Given the description of an element on the screen output the (x, y) to click on. 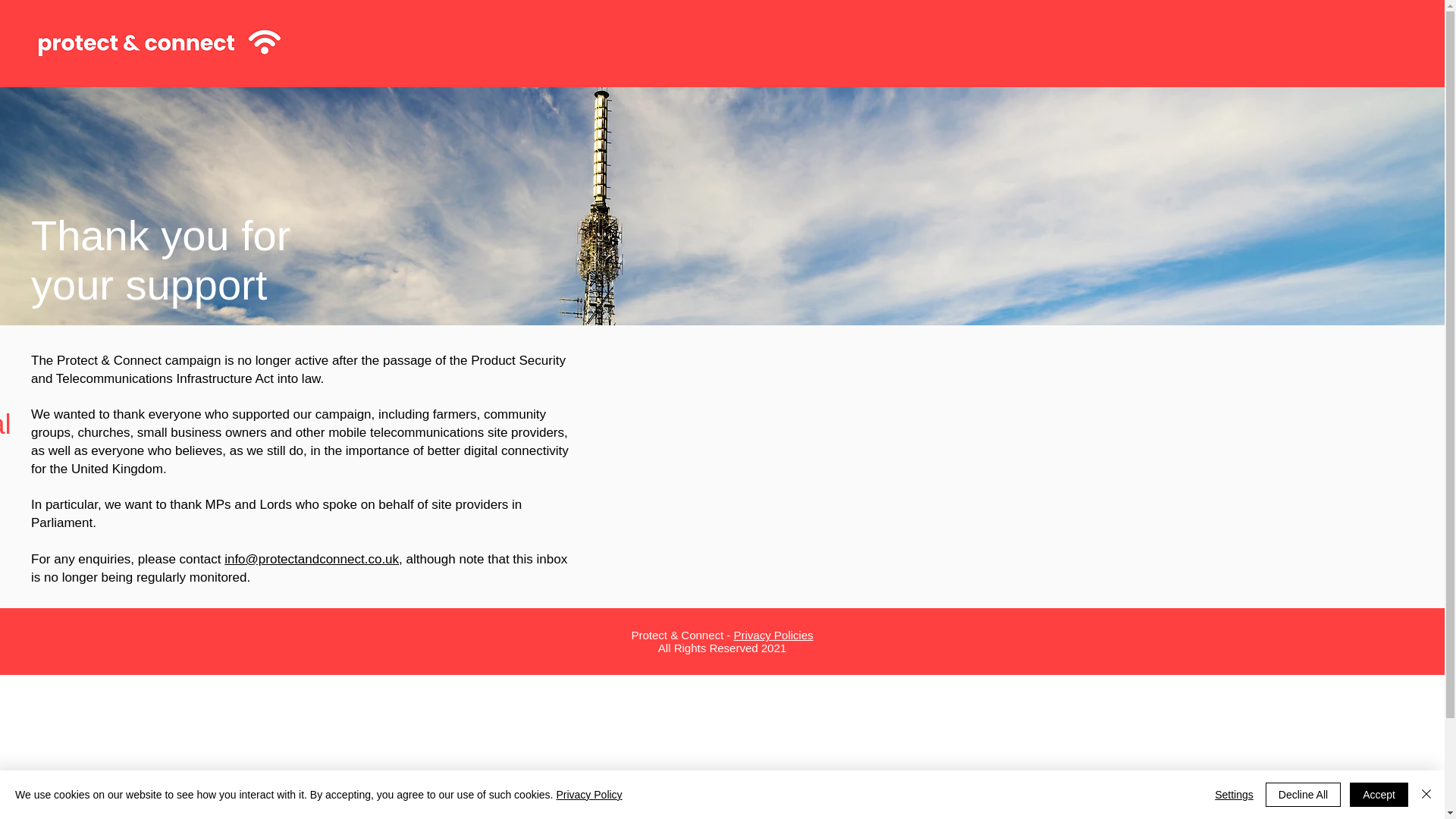
Privacy Policy (588, 794)
Privacy Policies (773, 634)
Accept (1378, 794)
Decline All (1302, 794)
